Given the description of an element on the screen output the (x, y) to click on. 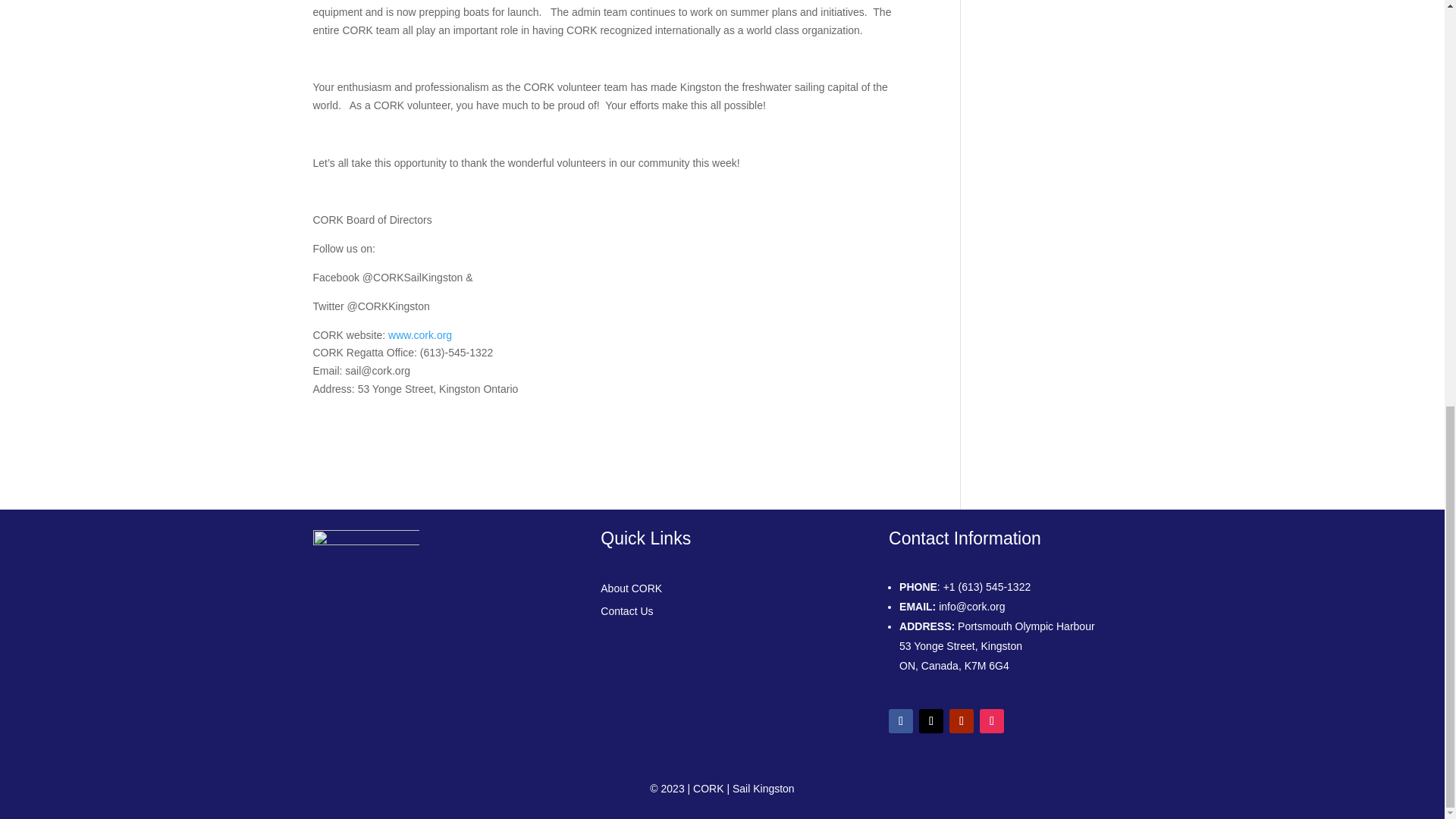
Follow on X (930, 721)
Follow on Facebook (900, 721)
CORKlogo-white (366, 585)
Follow on Instagram (991, 721)
Follow on Youtube (961, 721)
